Given the description of an element on the screen output the (x, y) to click on. 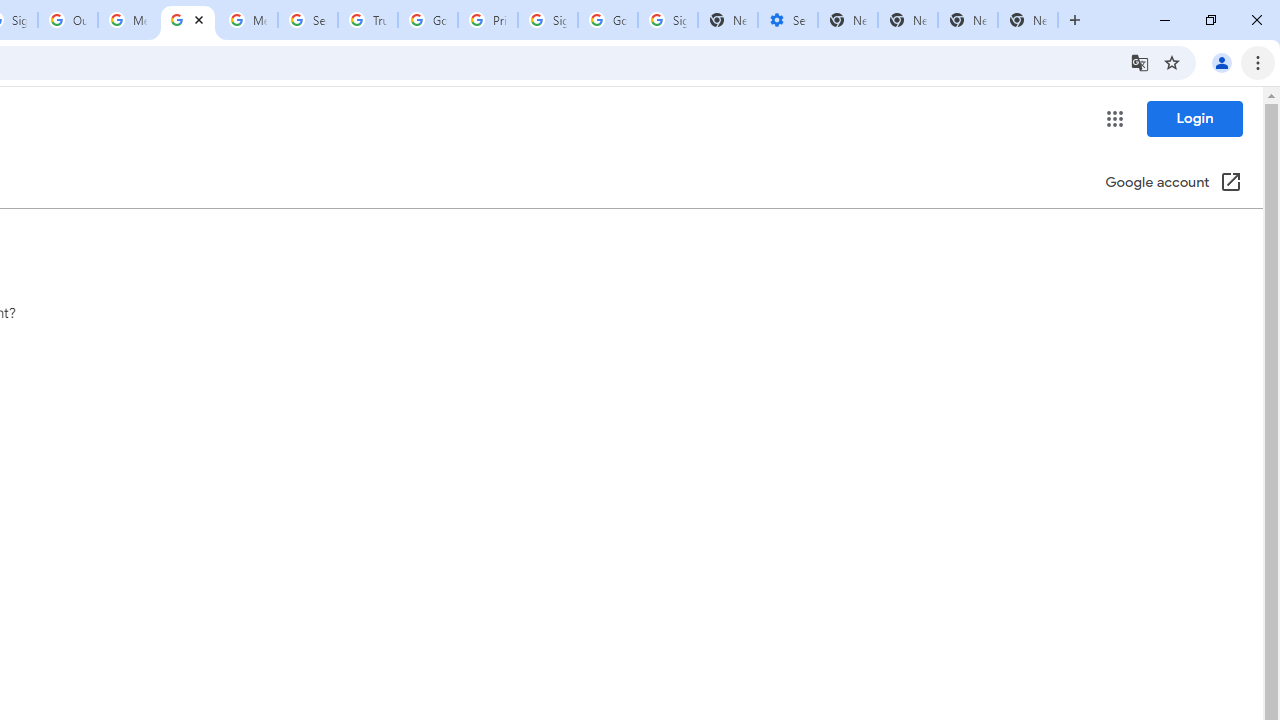
Translate this page (1139, 62)
Trusted Information and Content - Google Safety Center (367, 20)
